Given the description of an element on the screen output the (x, y) to click on. 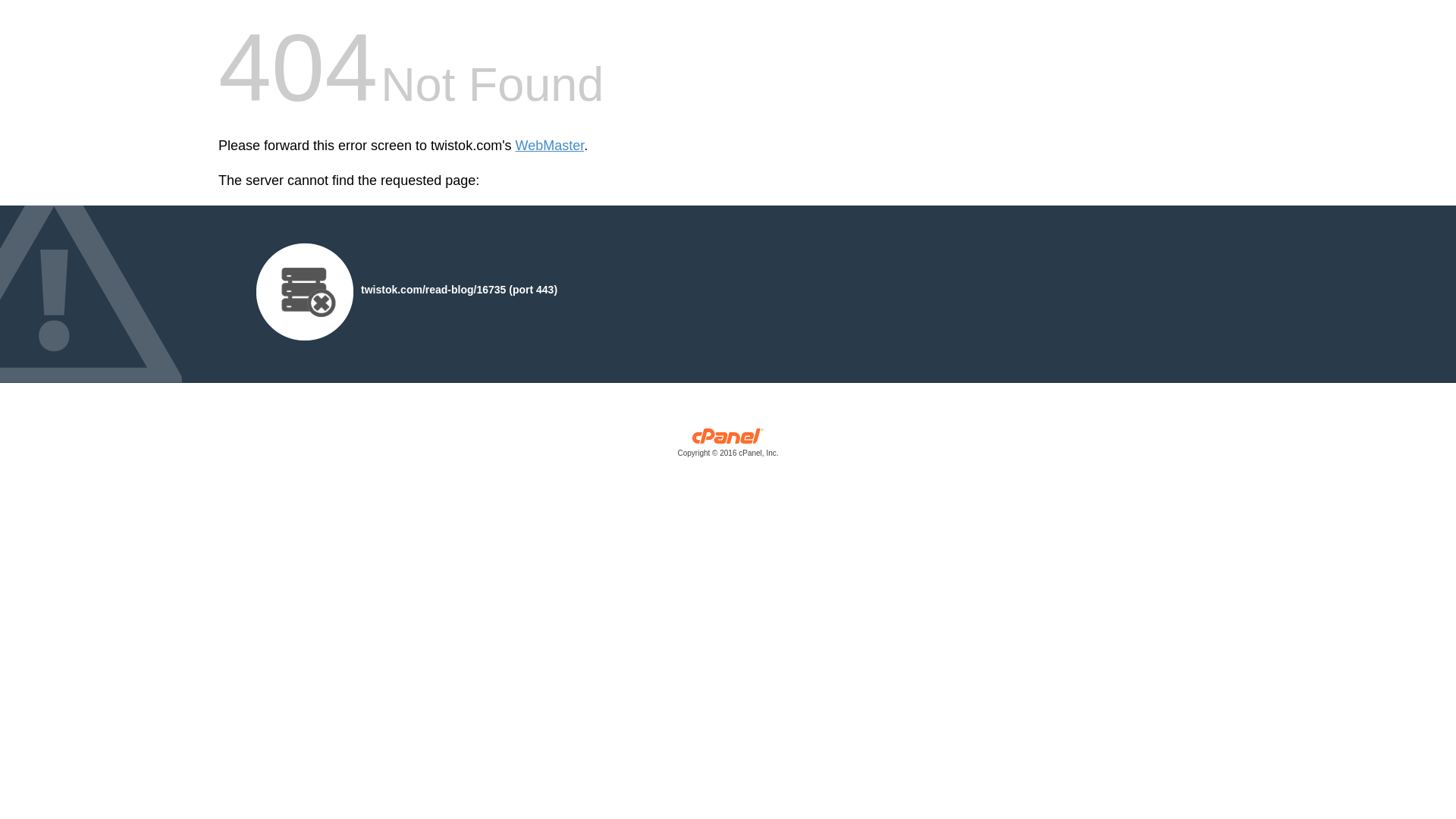
cPanel, Inc. (727, 446)
WebMaster (550, 145)
